Given the description of an element on the screen output the (x, y) to click on. 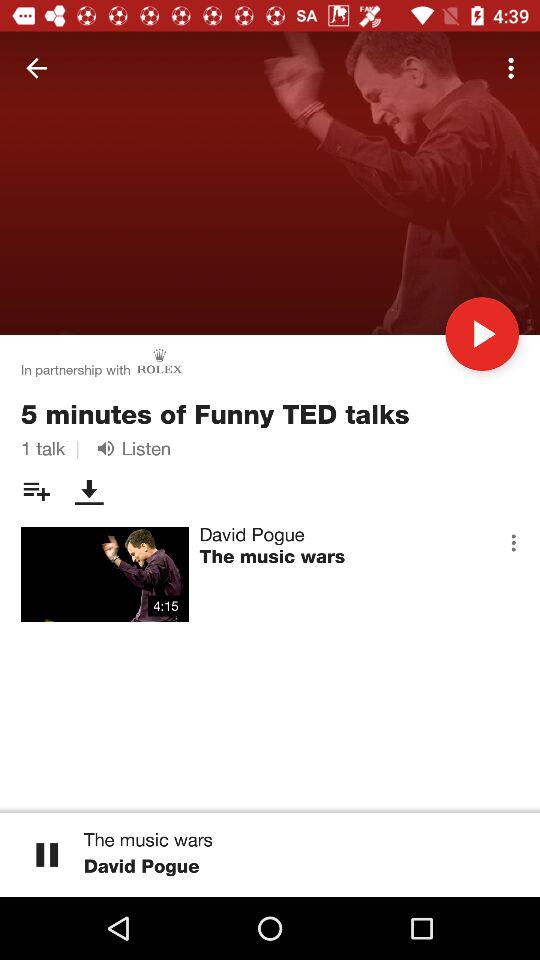
select icon to the right of the | (130, 448)
